Given the description of an element on the screen output the (x, y) to click on. 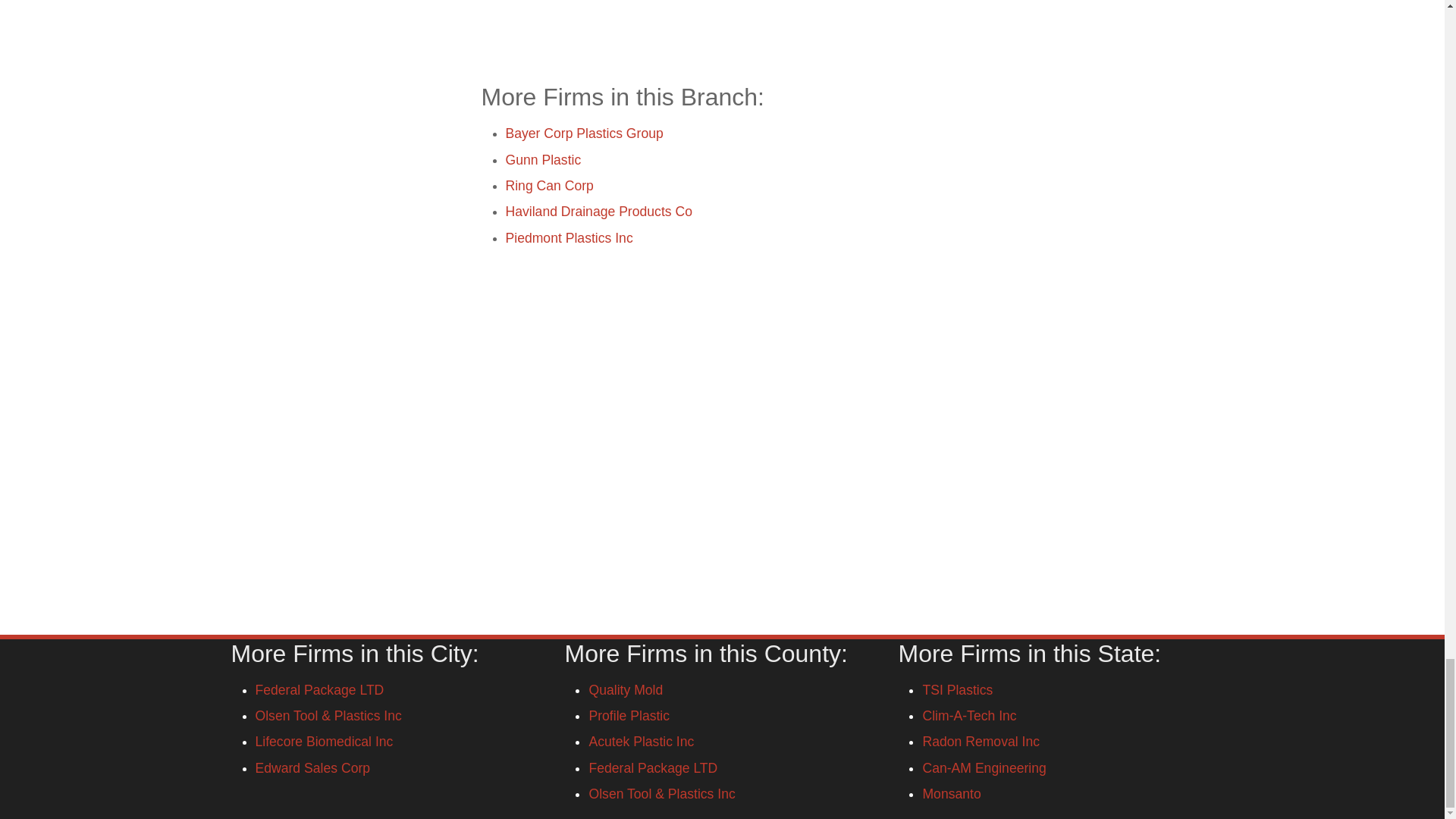
Ring Can Corp (548, 185)
Gunn Plastic (542, 159)
Piedmont Plastics Inc (568, 237)
Bayer Corp Plastics Group (583, 133)
Haviland Drainage Products Co (598, 211)
